Given the description of an element on the screen output the (x, y) to click on. 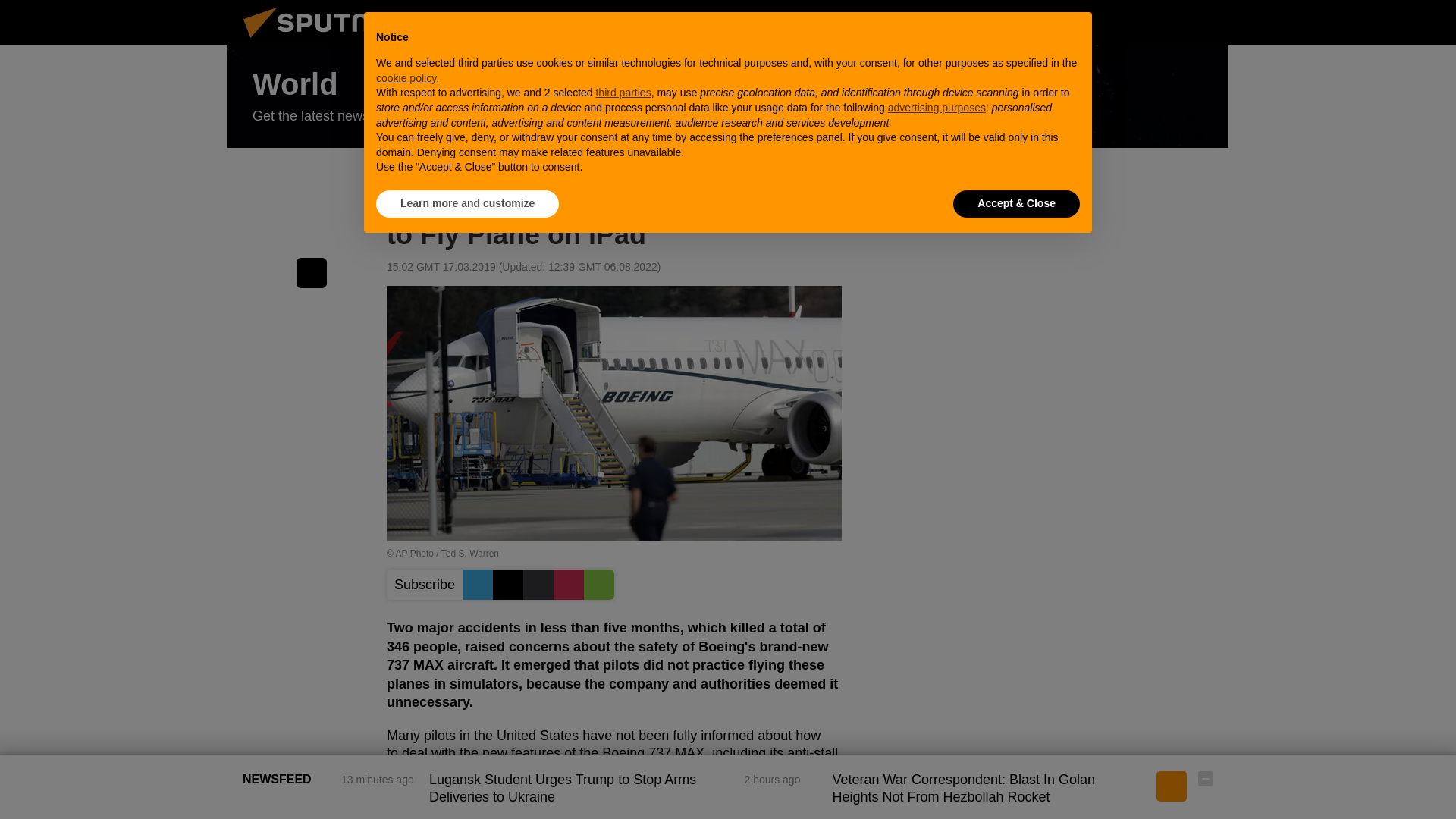
World (727, 96)
Sputnik International (325, 41)
Chats (1206, 22)
Authorization (1129, 22)
